Given the description of an element on the screen output the (x, y) to click on. 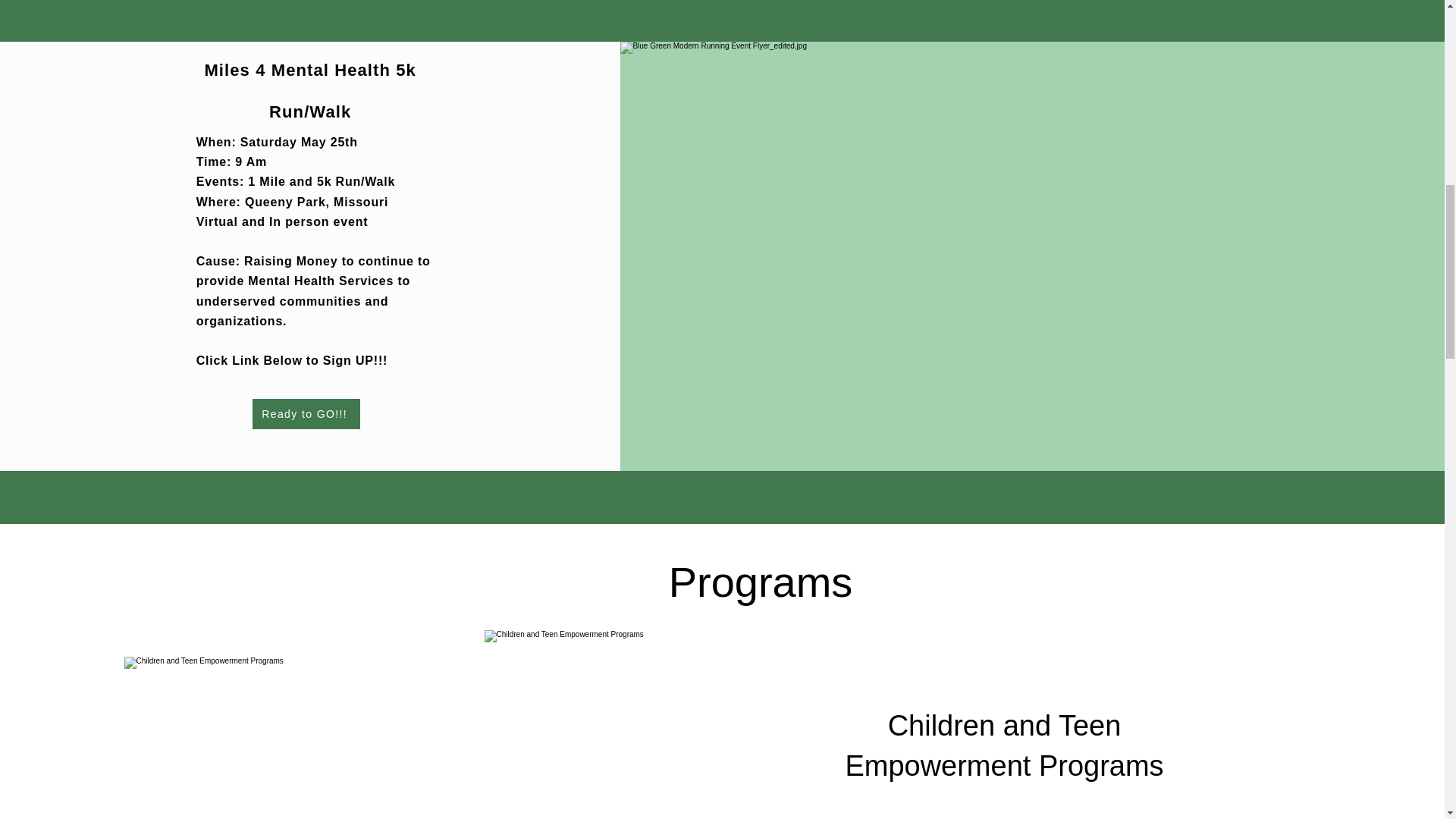
Ready to GO!!! (305, 413)
